Given the description of an element on the screen output the (x, y) to click on. 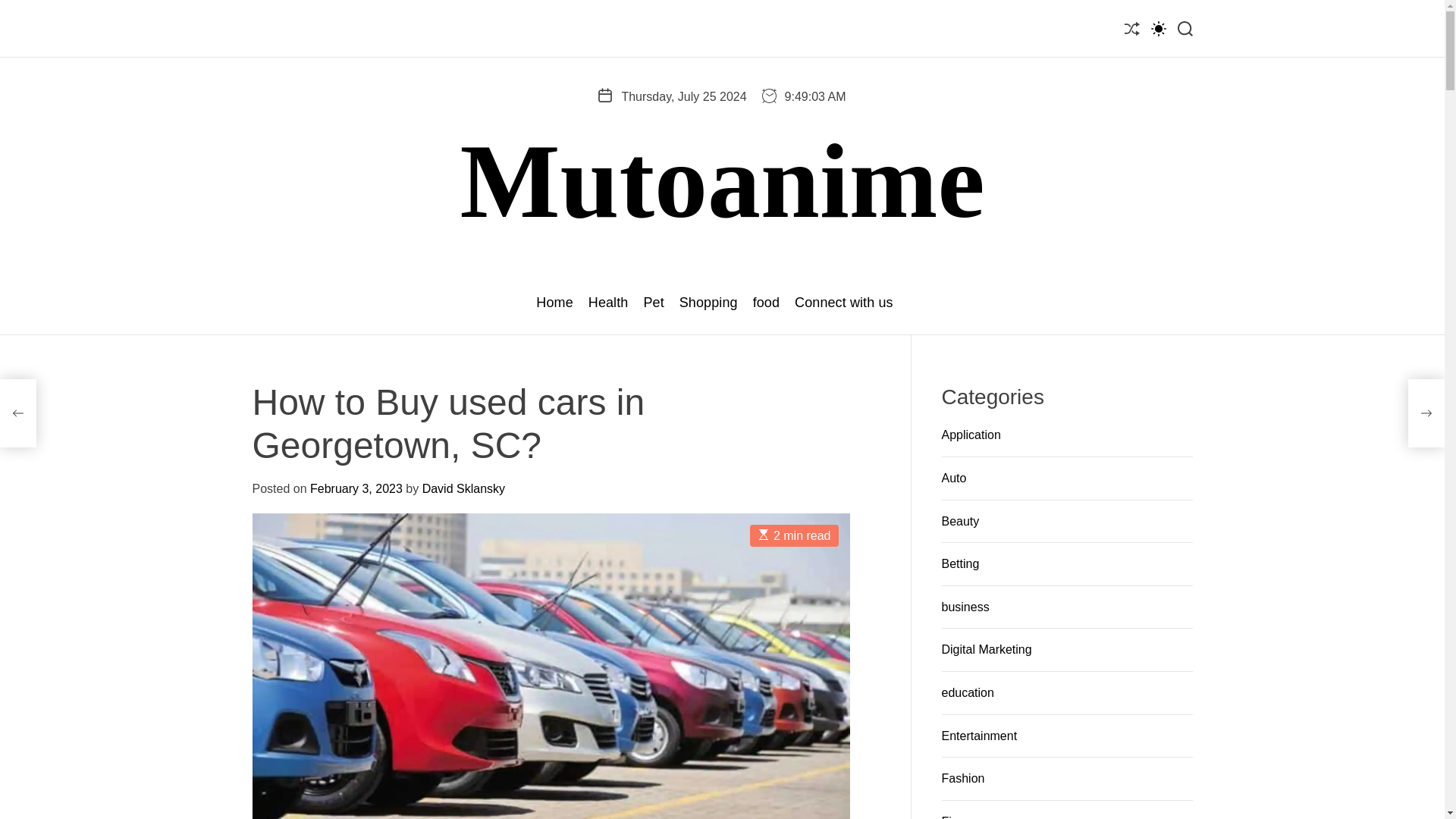
February 3, 2023 (356, 488)
Shopping (708, 303)
Health (608, 303)
Home (553, 303)
David Sklansky (463, 488)
Mutoanime (722, 180)
Connect with us (843, 303)
